Given the description of an element on the screen output the (x, y) to click on. 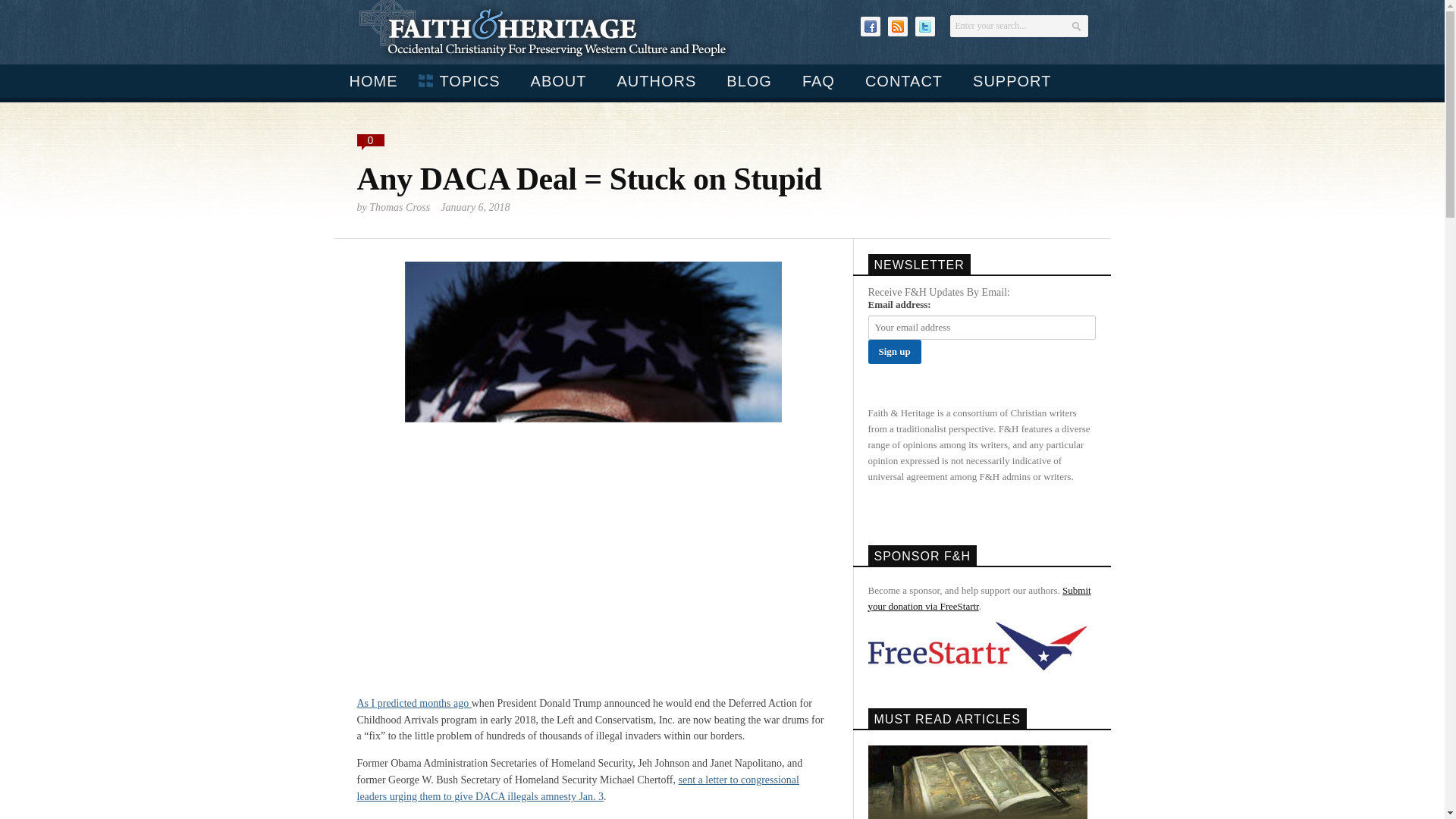
Enter your search... (1018, 25)
Sign up (893, 351)
HOME (372, 80)
TOPICS (463, 80)
Posts by Thomas Cross (399, 206)
